Given the description of an element on the screen output the (x, y) to click on. 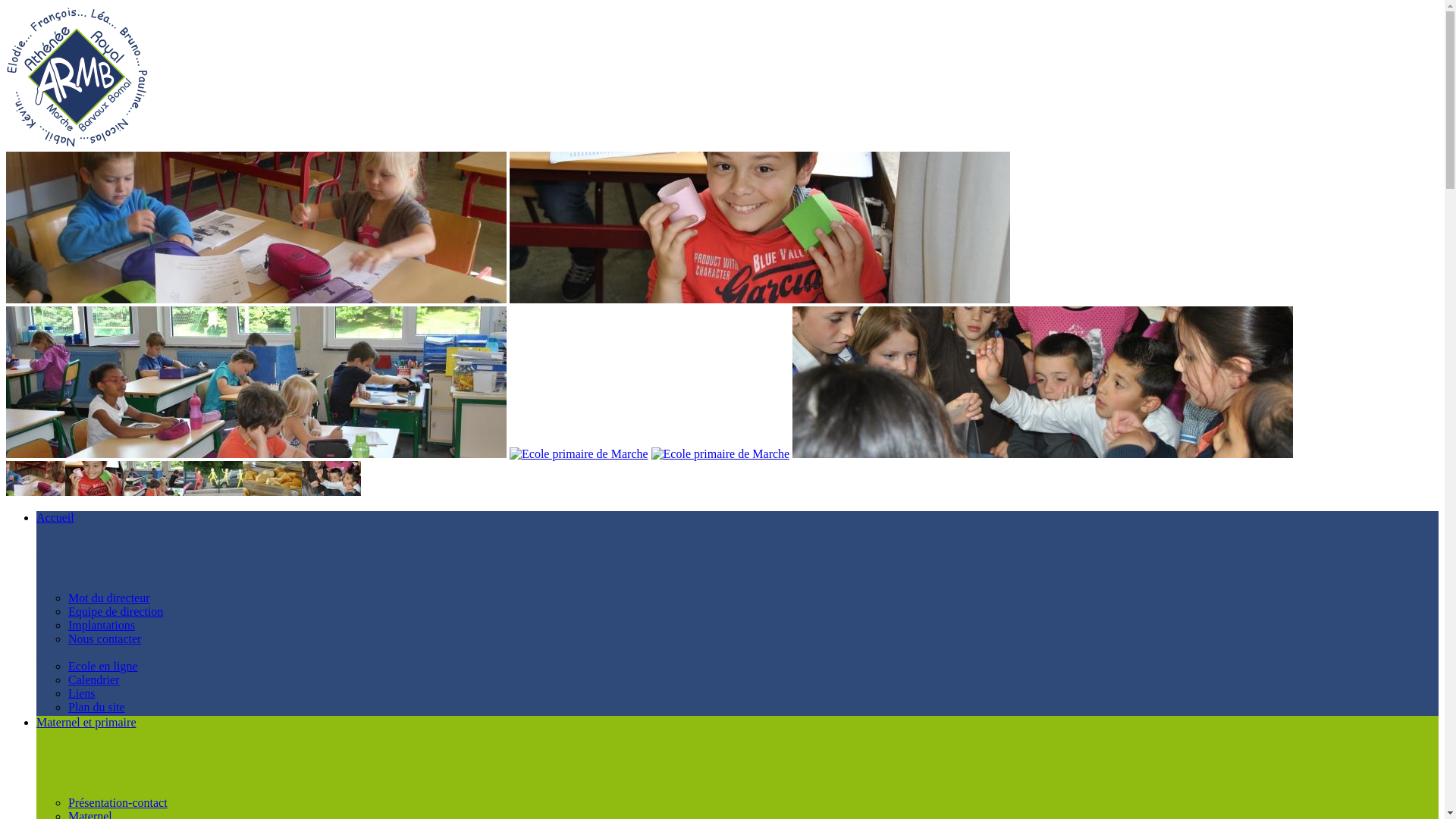
Divers Element type: text (53, 652)
Calendrier Element type: text (93, 679)
Maternel et primaire Element type: text (86, 721)
Marche Element type: text (57, 789)
Mot du directeur Element type: text (109, 597)
Nous contacter Element type: text (104, 638)
Plan du site Element type: text (96, 706)
Accueil Element type: text (55, 517)
Implantations Element type: text (101, 624)
Ecole en ligne Element type: text (103, 665)
Liens Element type: text (81, 693)
Equipe de direction Element type: text (115, 611)
